Given the description of an element on the screen output the (x, y) to click on. 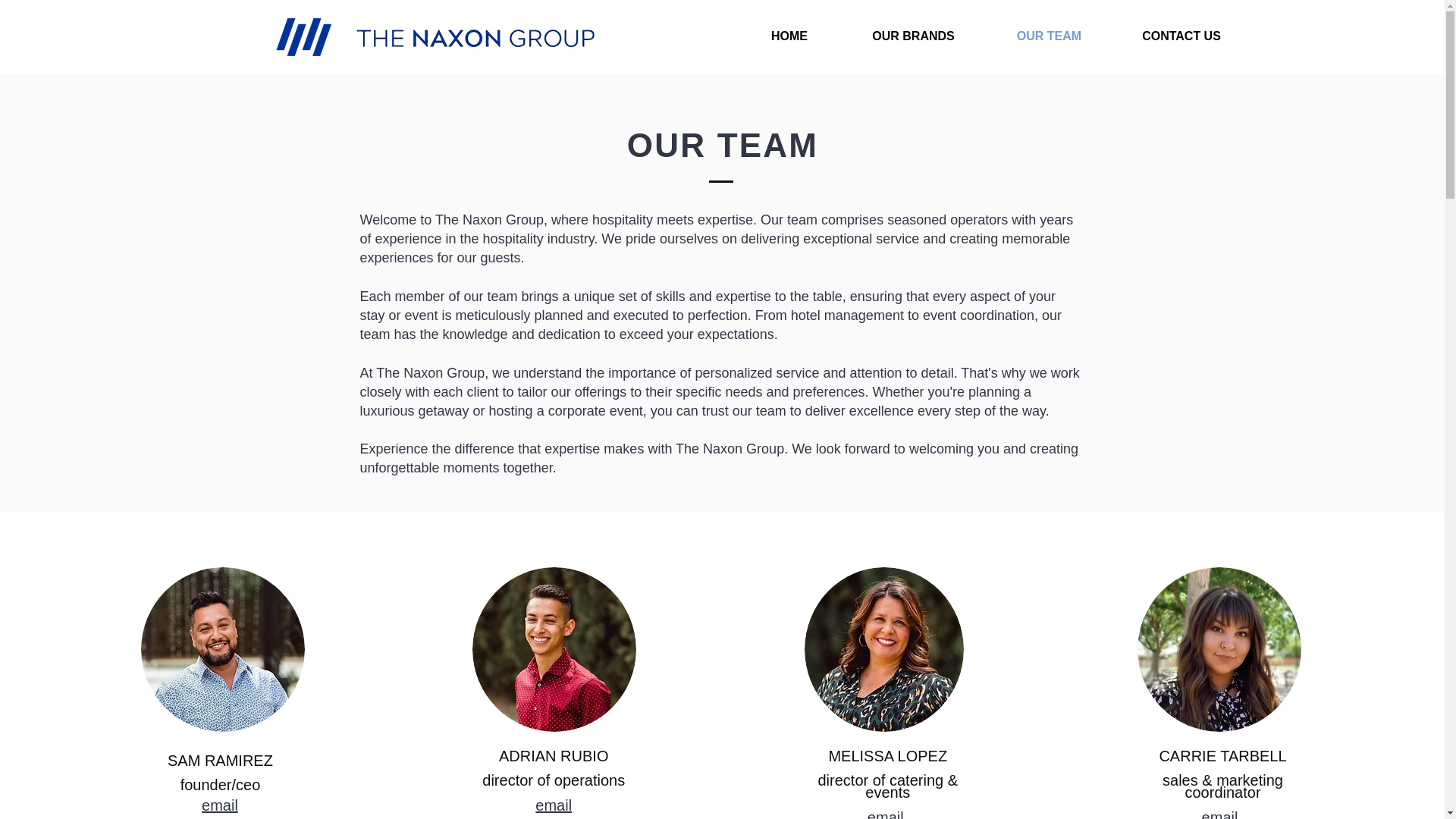
guy2.jpg (222, 649)
guy2.jpg (1219, 649)
email (885, 814)
guy3.jpg (884, 649)
guy4.jpg (553, 649)
HOME (788, 36)
OUR BRANDS (913, 36)
email (1220, 814)
email (553, 805)
OUR TEAM (1049, 36)
